Given the description of an element on the screen output the (x, y) to click on. 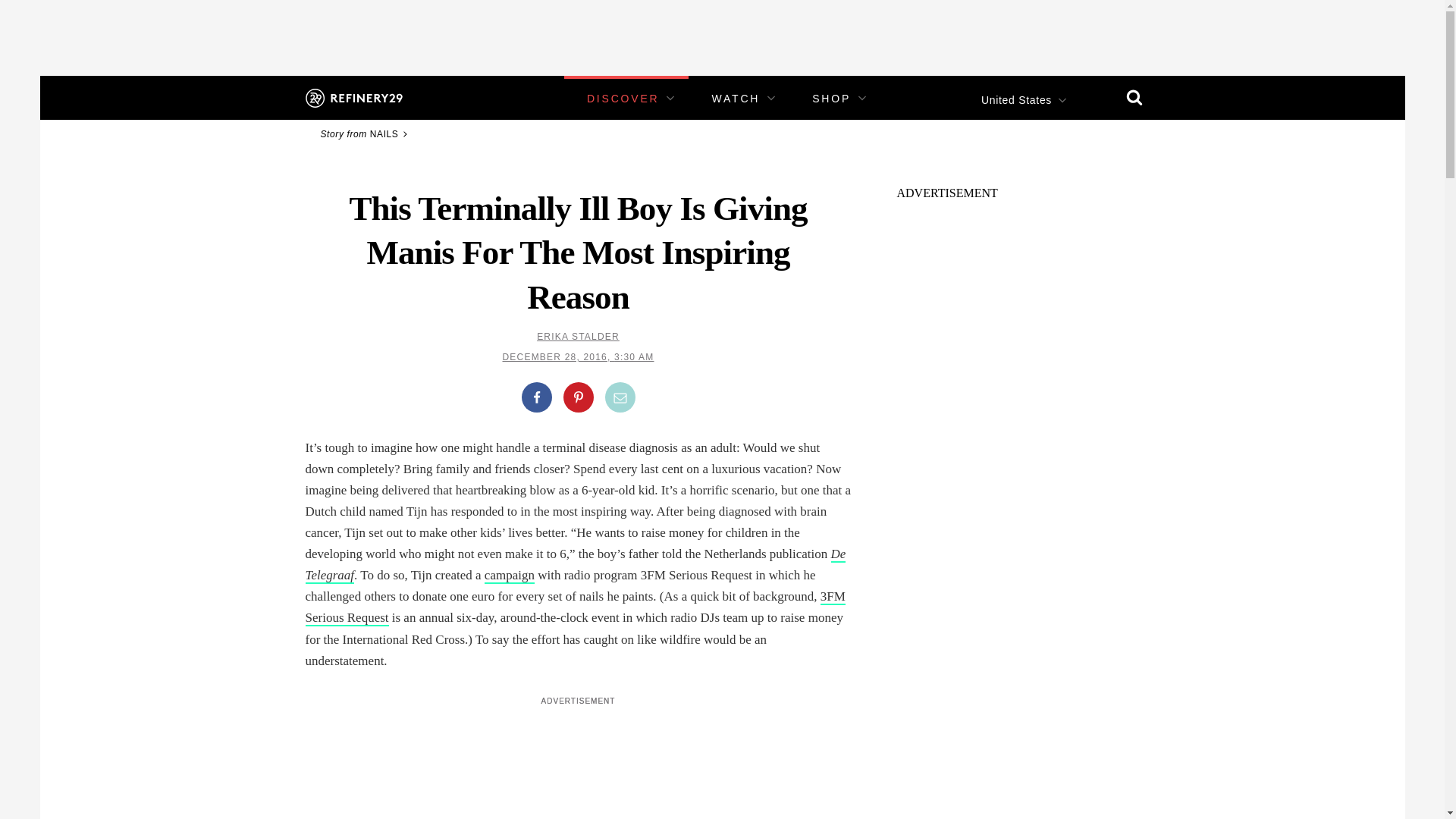
Refinery29 (352, 97)
DISCOVER (622, 98)
DECEMBER 28, 2016, 3:30 AM (577, 357)
Share by Email (619, 397)
Share on Pinterest (577, 397)
campaign (509, 575)
De Telegraaf (574, 565)
WATCH (735, 98)
Story from NAILS (366, 133)
Share on Facebook (536, 397)
SHOP (831, 98)
ERIKA STALDER (578, 336)
3FM Serious Request (574, 607)
